Given the description of an element on the screen output the (x, y) to click on. 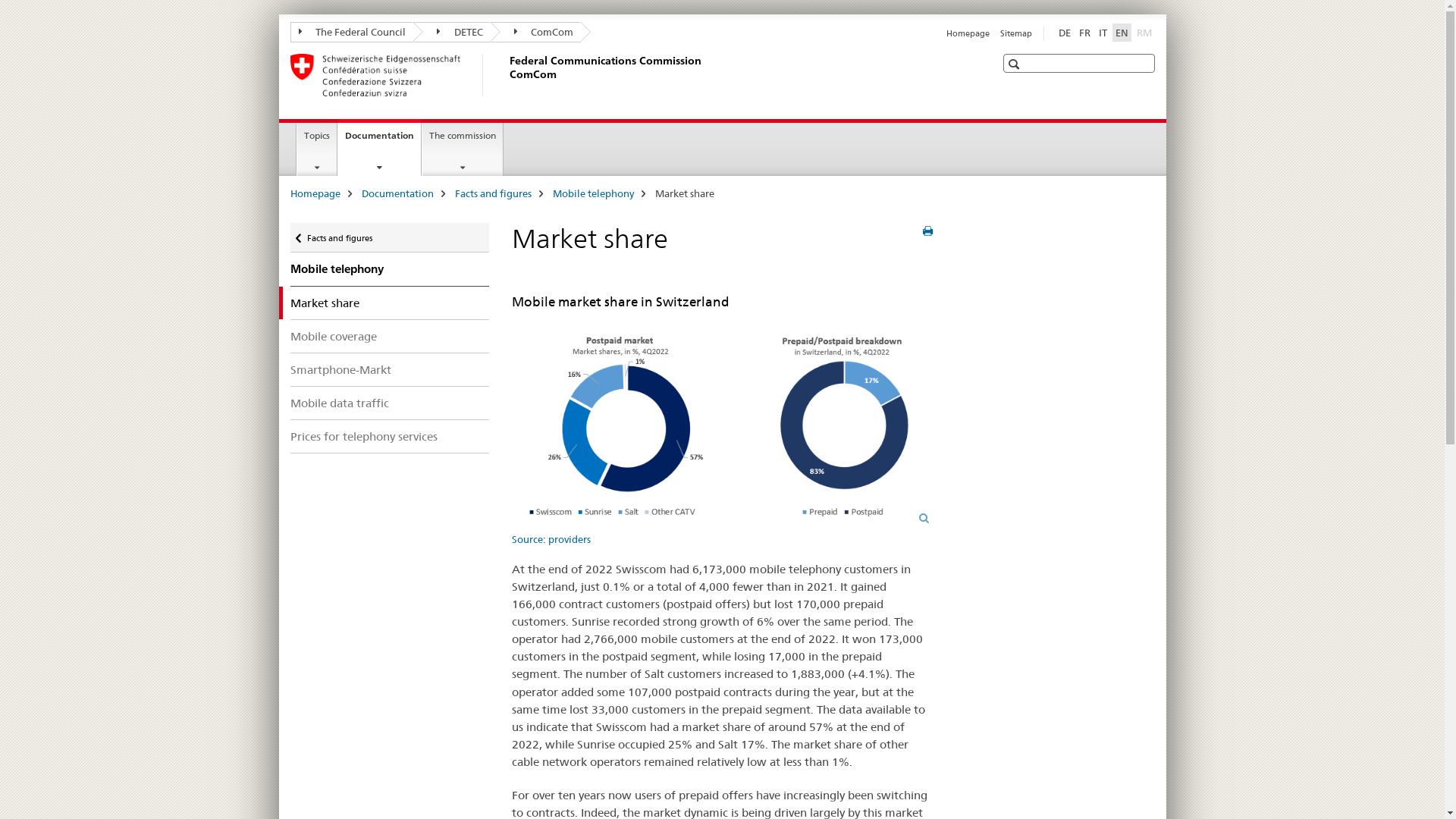
RM
disabled Element type: text (1143, 32)
Mobile telephony Element type: text (592, 193)
Sitemap Element type: text (1015, 33)
The Federal Council Element type: text (351, 31)
Mobile coverage Element type: text (389, 336)
Federal Communications Commission ComCom Element type: text (505, 74)
Documentation
current page Element type: text (379, 147)
Source: providers Element type: text (721, 432)
The commission Element type: text (462, 148)
Homepage Element type: text (314, 193)
Documentation Element type: text (396, 193)
Mobile data traffic Element type: text (389, 402)
Topics Element type: text (316, 148)
Smartphone-Markt Element type: text (389, 369)
Prices for telephony services Element type: text (389, 436)
EN Element type: text (1120, 32)
DETEC Element type: text (451, 31)
Homepage Element type: text (967, 33)
Facts and figures Element type: text (493, 193)
DE Element type: text (1064, 32)
Mobile telephony Element type: text (389, 268)
ComCom Element type: text (534, 31)
IT Element type: text (1102, 32)
Print this page Element type: hover (927, 230)
FR Element type: text (1083, 32)
